Given the description of an element on the screen output the (x, y) to click on. 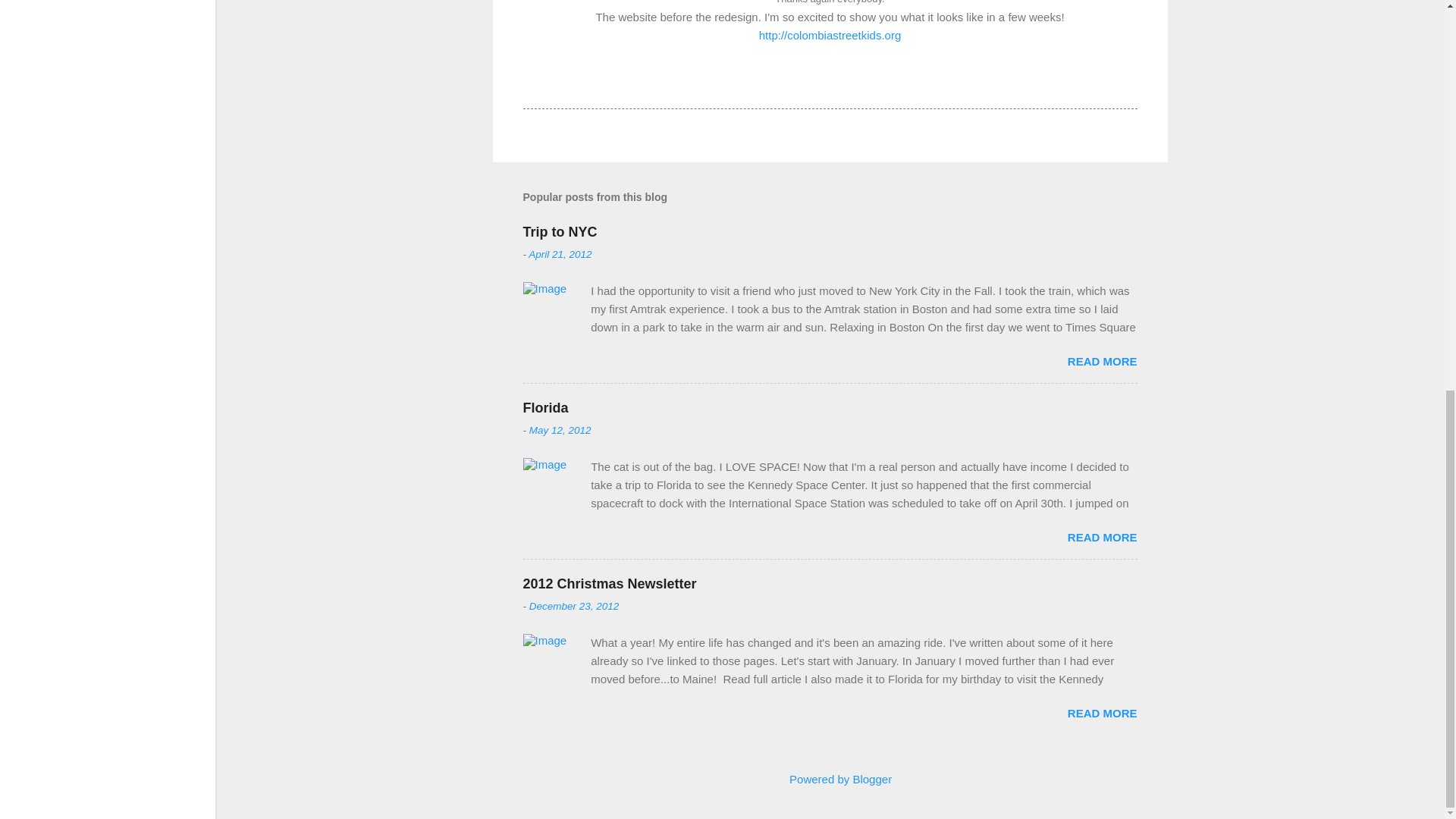
Florida (545, 407)
READ MORE (1102, 360)
May 12, 2012 (560, 430)
READ MORE (1102, 536)
permanent link (559, 254)
Trip to NYC (559, 231)
READ MORE (1102, 712)
December 23, 2012 (574, 605)
Powered by Blogger (829, 779)
April 21, 2012 (559, 254)
